Given the description of an element on the screen output the (x, y) to click on. 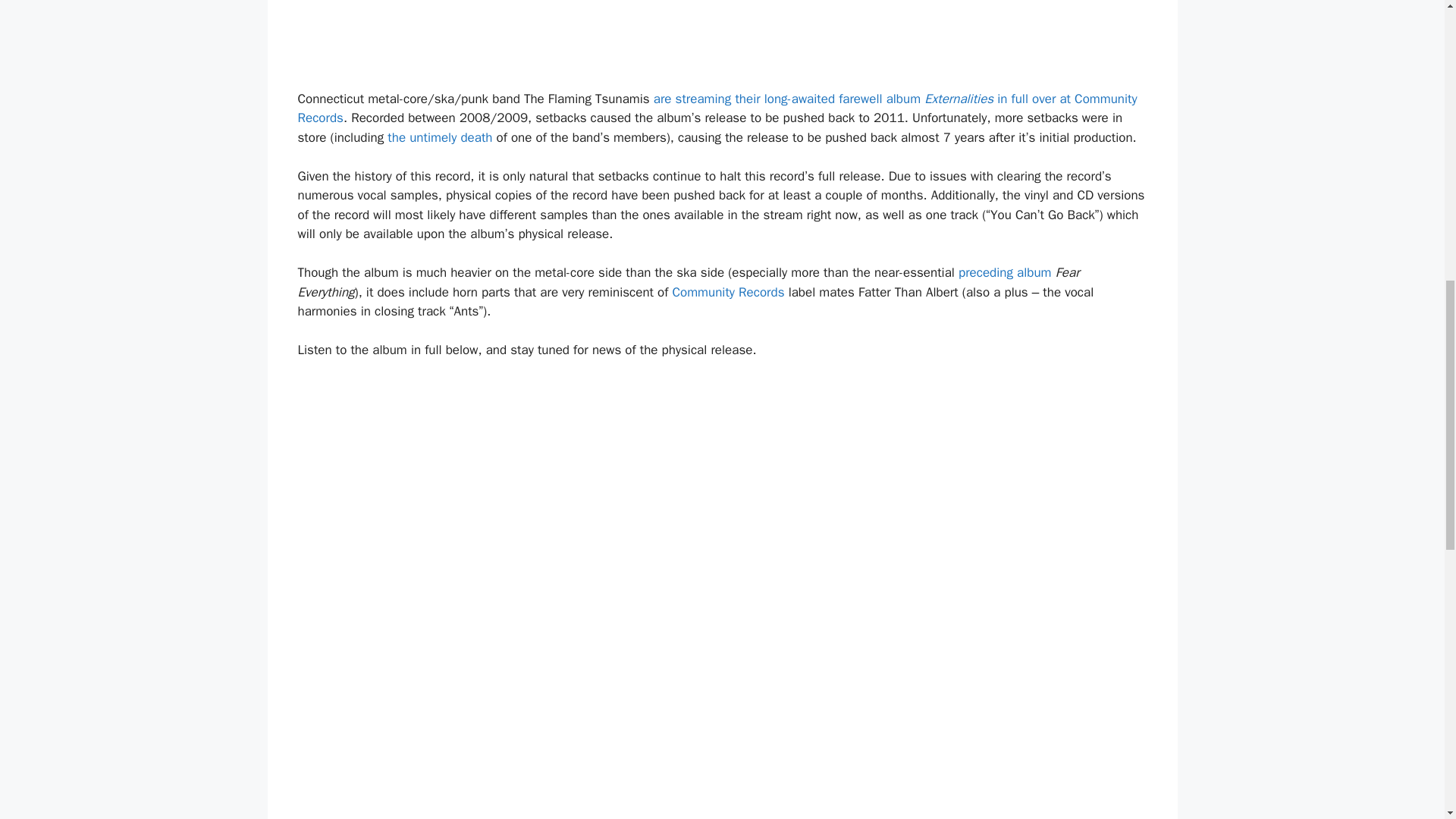
Community Records (727, 292)
the untimely death (439, 137)
Community Records (727, 292)
The Flaming Tsunamis l Community Records (717, 108)
Bike Enthusiast, Musician Shot Dead l New Haven Independent (439, 137)
preceding album (1004, 272)
Flaming Tsunamis - Fear Everything l Bandcamp (1004, 272)
